Given the description of an element on the screen output the (x, y) to click on. 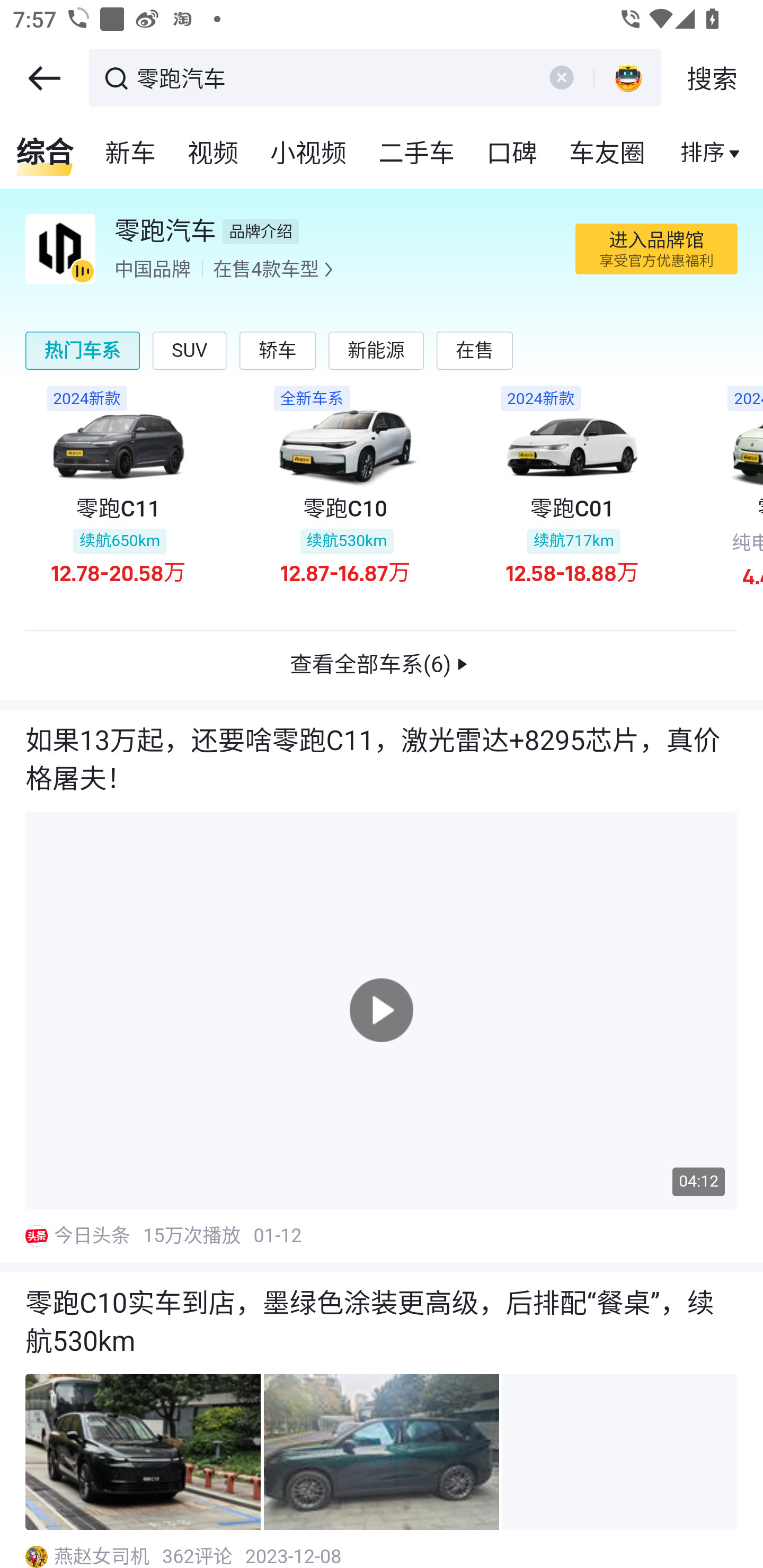
零跑汽车 (331, 76)
 (560, 77)
 (44, 78)
搜索 (711, 78)
综合 (44, 153)
新车 (131, 153)
视频 (213, 153)
小视频 (308, 153)
二手车 (417, 153)
口碑 (512, 153)
车友圈 (608, 153)
直播 (703, 153)
6b67f819bf9f44c09f01e8894d5c8a39~tplv-dcdx-origin (60, 248)
品牌介绍 (261, 231)
进入品牌馆 享受官方优惠福利 (656, 249)
热门车系 (83, 350)
SUV (189, 350)
轿车 (277, 350)
新能源 (375, 350)
在售 (474, 350)
2024新款 零跑C11 续航650km 12.78-20.58万 (118, 495)
全新车系 零跑C10 续航530km 12.87-16.87万 (344, 495)
2024新款 零跑C01 续航717km 12.58-18.88万 (572, 495)
12.78-20.58万 (117, 571)
12.87-16.87万 (346, 571)
12.58-18.88万 (572, 571)
查看全部车系(6) (381, 666)
如果13万起，还要啥零跑C11，激光雷达+8295芯片，真价格屠夫！ (381, 760)
今日头条 (92, 1236)
0fd73f837002cf9add4c4c13bb51461b~300x300 (36, 1236)
零跑C10实车到店，墨绿色涂装更高级，后排配“餐桌”，续航530km (381, 1323)
燕赵女司机 (102, 1555)
3ff5449191cb1016519208e63363edfb~300x300 (36, 1557)
